Given the description of an element on the screen output the (x, y) to click on. 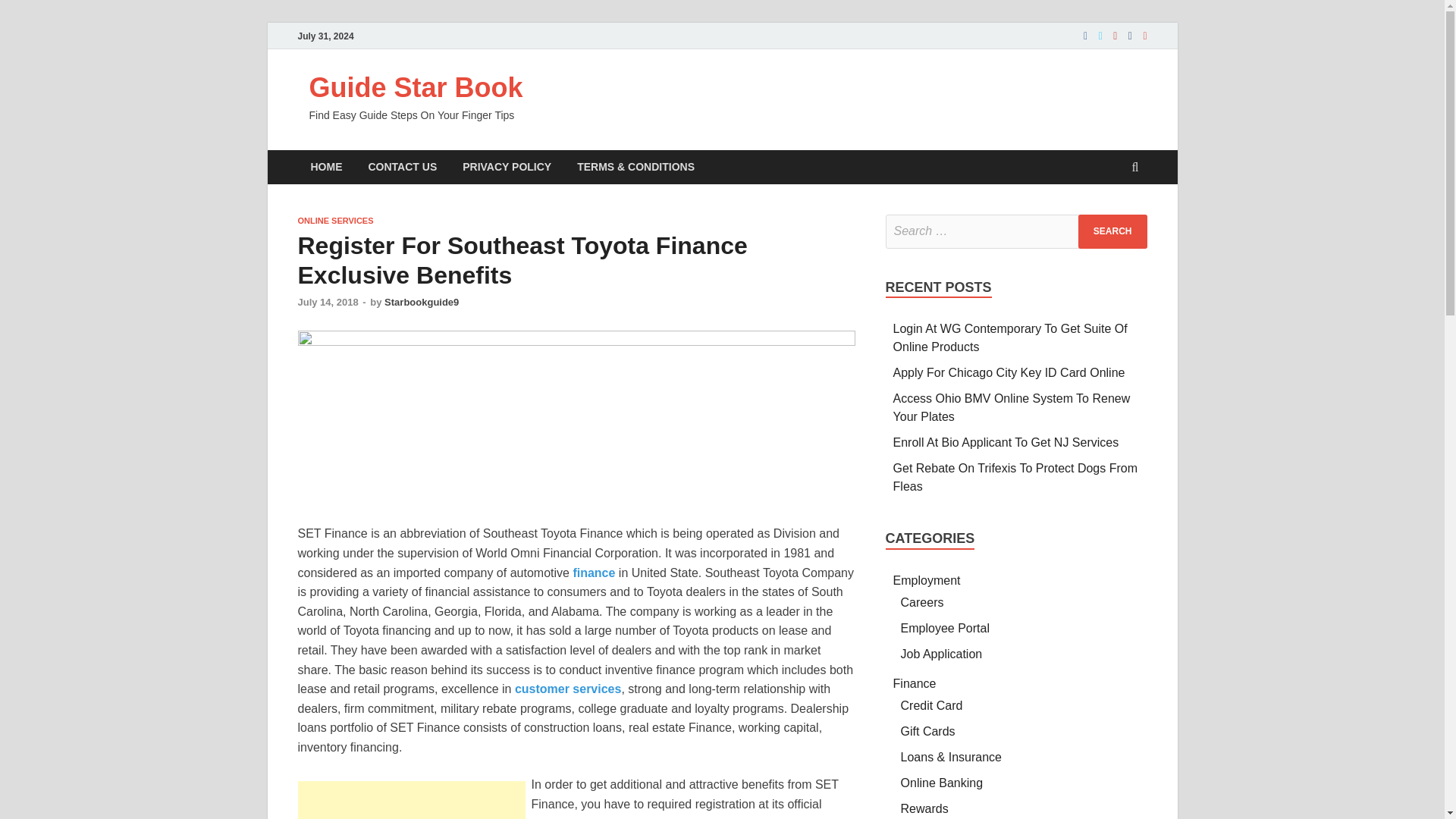
ONLINE SERVICES (334, 220)
Search (1112, 231)
Access Ohio BMV Online System To Renew Your Plates (1012, 407)
Search (1112, 231)
customer services (568, 688)
Employment (926, 580)
Get Rebate On Trifexis To Protect Dogs From Fleas (1015, 477)
Starbookguide9 (421, 301)
HOME (326, 166)
Employee Portal (945, 627)
Careers (922, 602)
Job Application (941, 653)
Apply For Chicago City Key ID Card Online (1009, 372)
finance (593, 572)
Search (1112, 231)
